Given the description of an element on the screen output the (x, y) to click on. 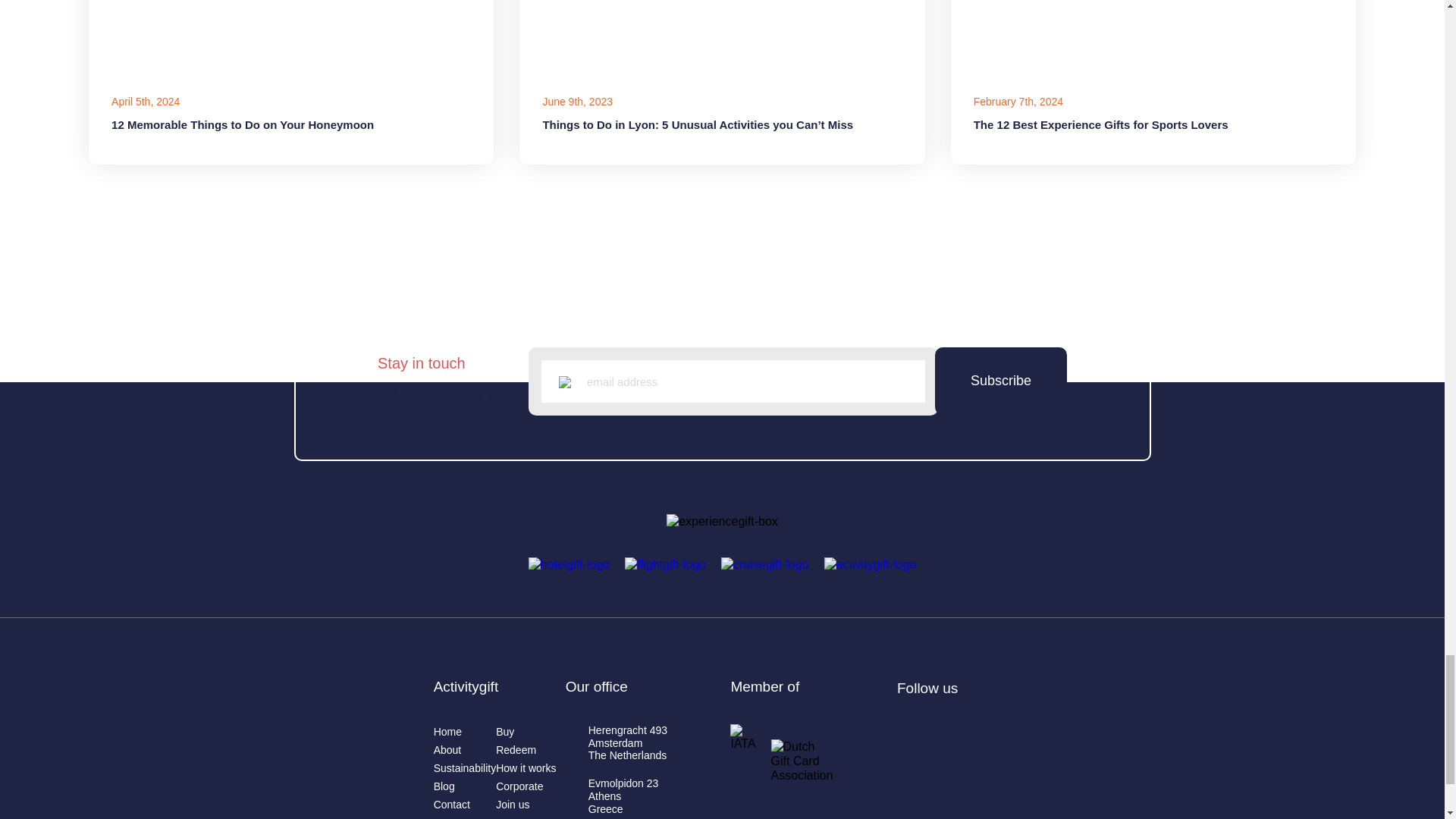
Subscribe (290, 82)
Subscribe (1000, 380)
